Given the description of an element on the screen output the (x, y) to click on. 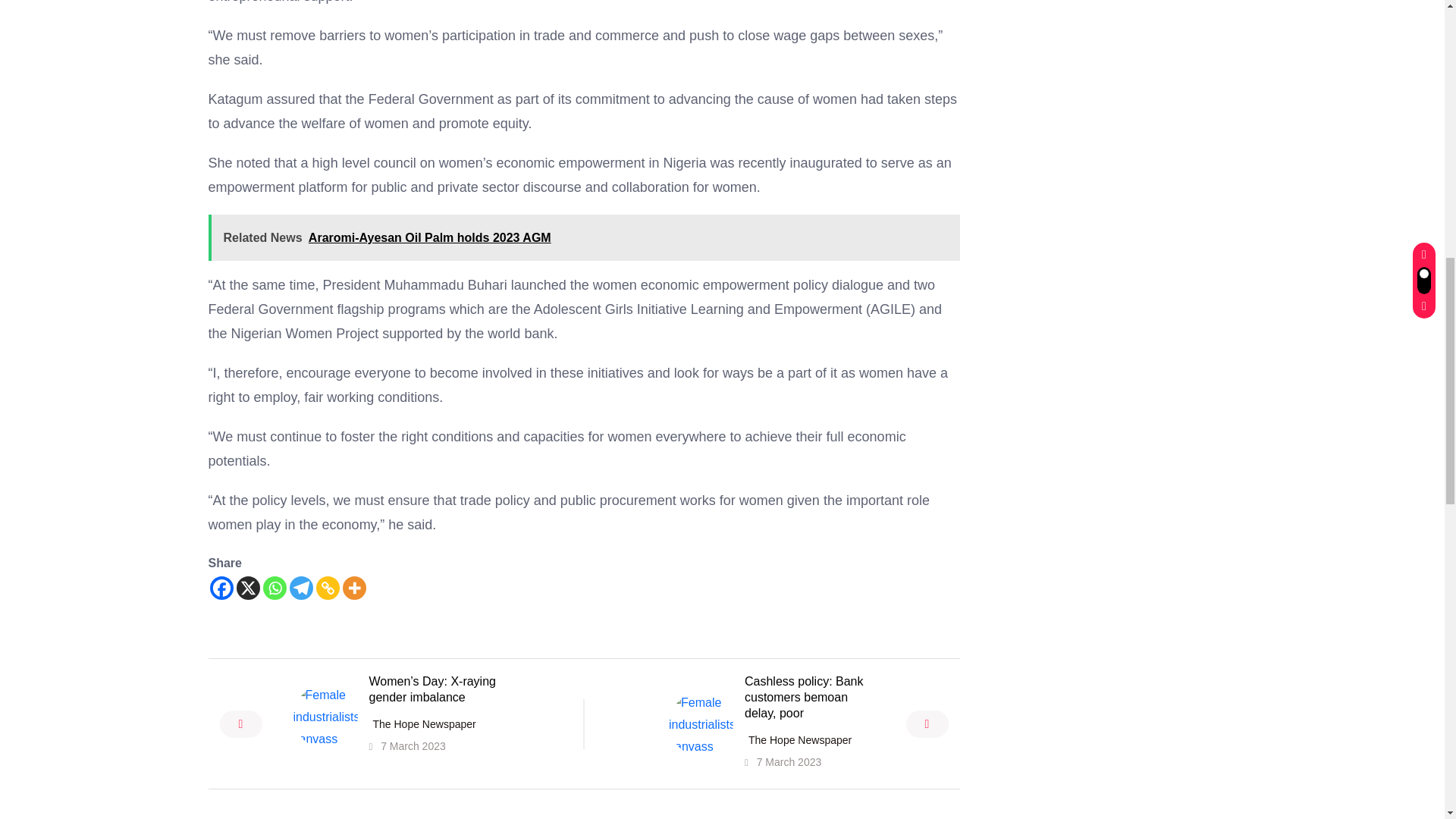
Whatsapp (273, 587)
X (247, 587)
Copy Link (327, 587)
More (354, 587)
Facebook (220, 587)
Telegram (301, 587)
